Given the description of an element on the screen output the (x, y) to click on. 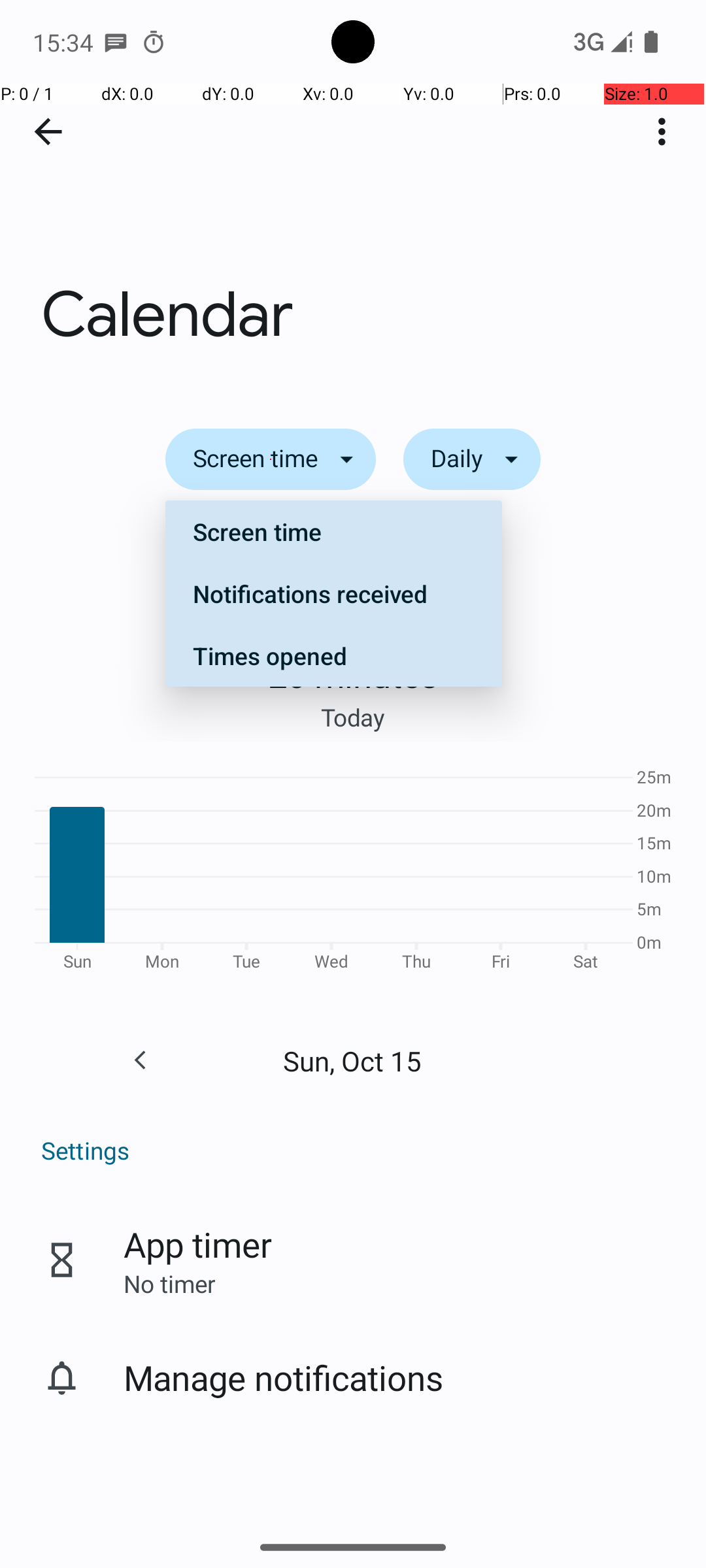
Notifications received Element type: android.widget.TextView (333, 593)
Times opened Element type: android.widget.TextView (333, 655)
